Given the description of an element on the screen output the (x, y) to click on. 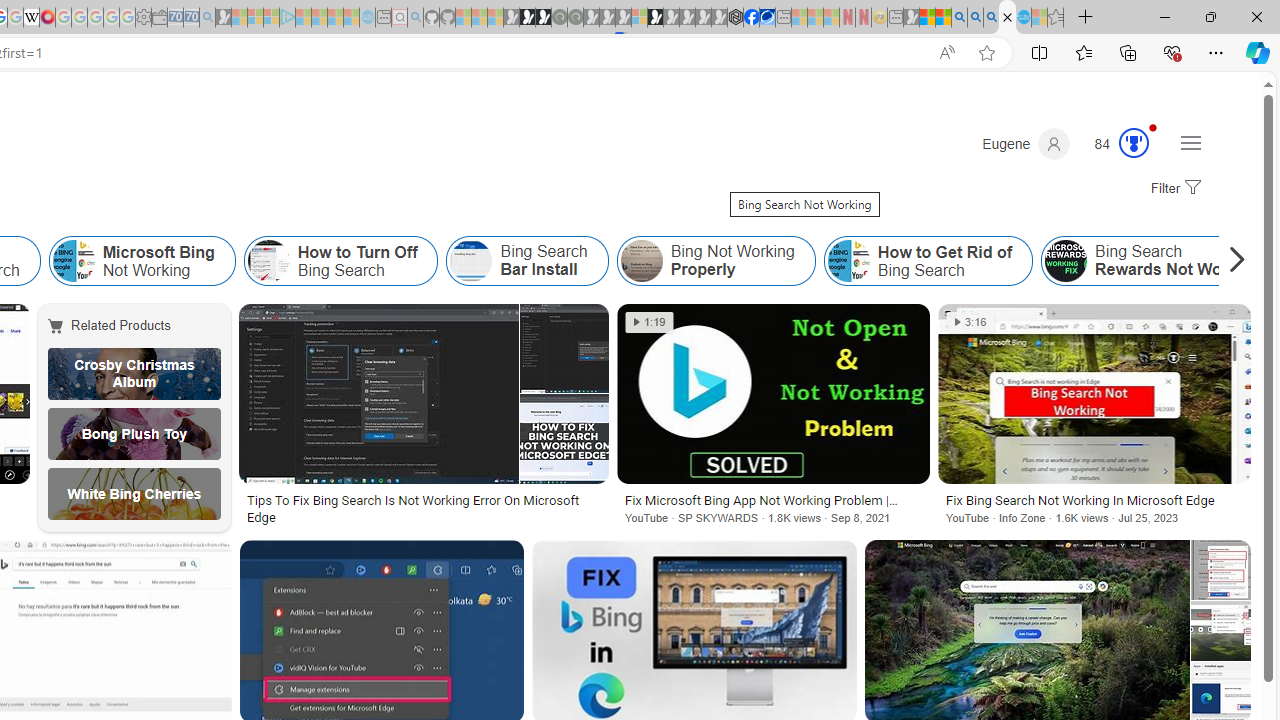
Bing AI - Search (959, 17)
1:19 (649, 322)
White Bing Cherries (134, 493)
Fix Bing Search Not Working In Microsoft Edge (1093, 500)
White Bing Cherries (134, 493)
Image result for Bing Search Not Working (1220, 630)
AirNow.gov (767, 17)
